Given the description of an element on the screen output the (x, y) to click on. 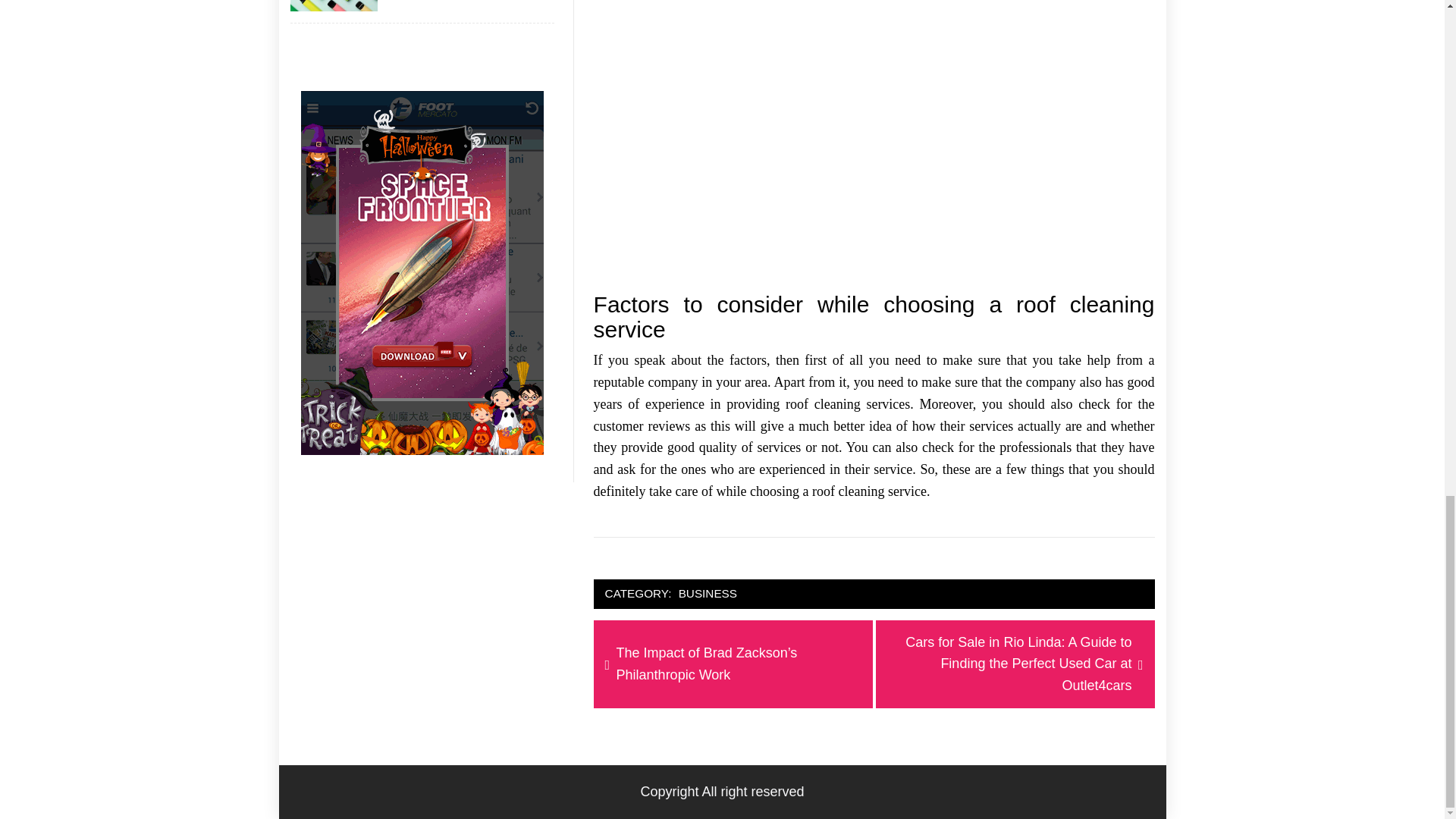
BUSINESS (708, 594)
